Given the description of an element on the screen output the (x, y) to click on. 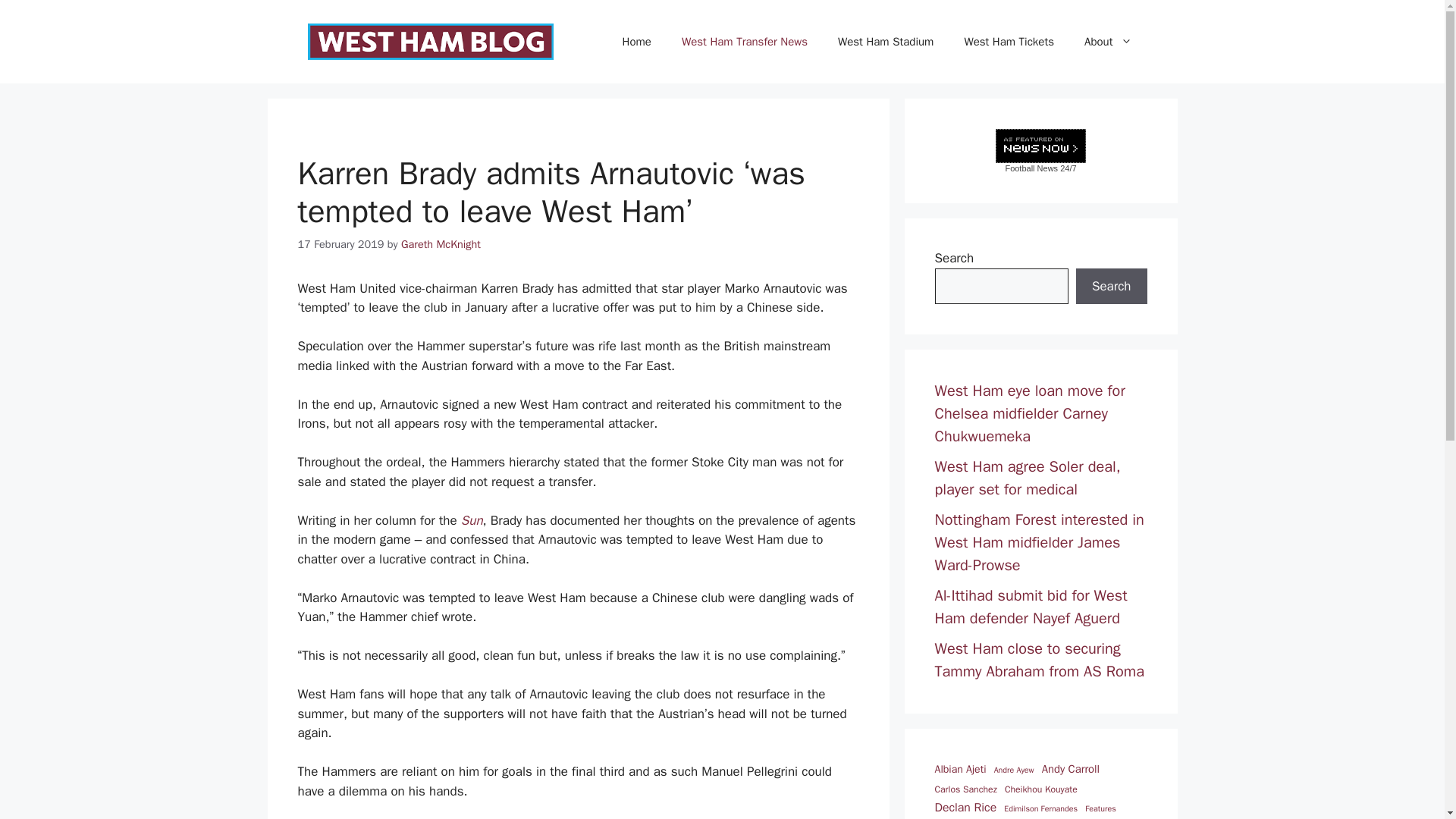
Home (636, 41)
West Ham Tickets (1008, 41)
West Ham Transfer News (744, 41)
Andy Carroll (1070, 768)
West Ham Stadium (885, 41)
Al-Ittihad submit bid for West Ham defender Nayef Aguerd (1030, 607)
View all posts by Gareth McKnight (440, 243)
Declan Rice (964, 808)
